Given the description of an element on the screen output the (x, y) to click on. 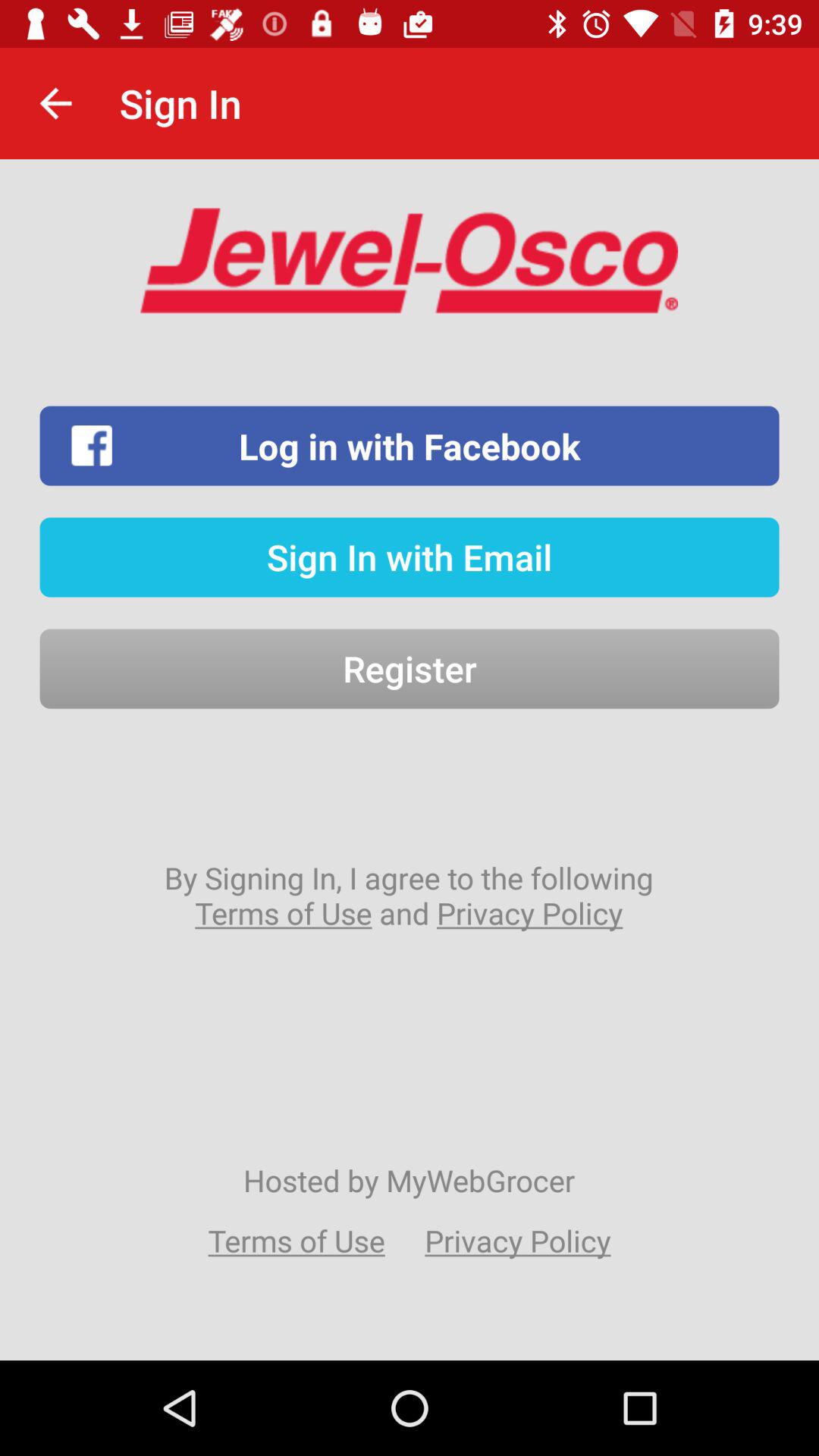
choose register (409, 668)
